Given the description of an element on the screen output the (x, y) to click on. 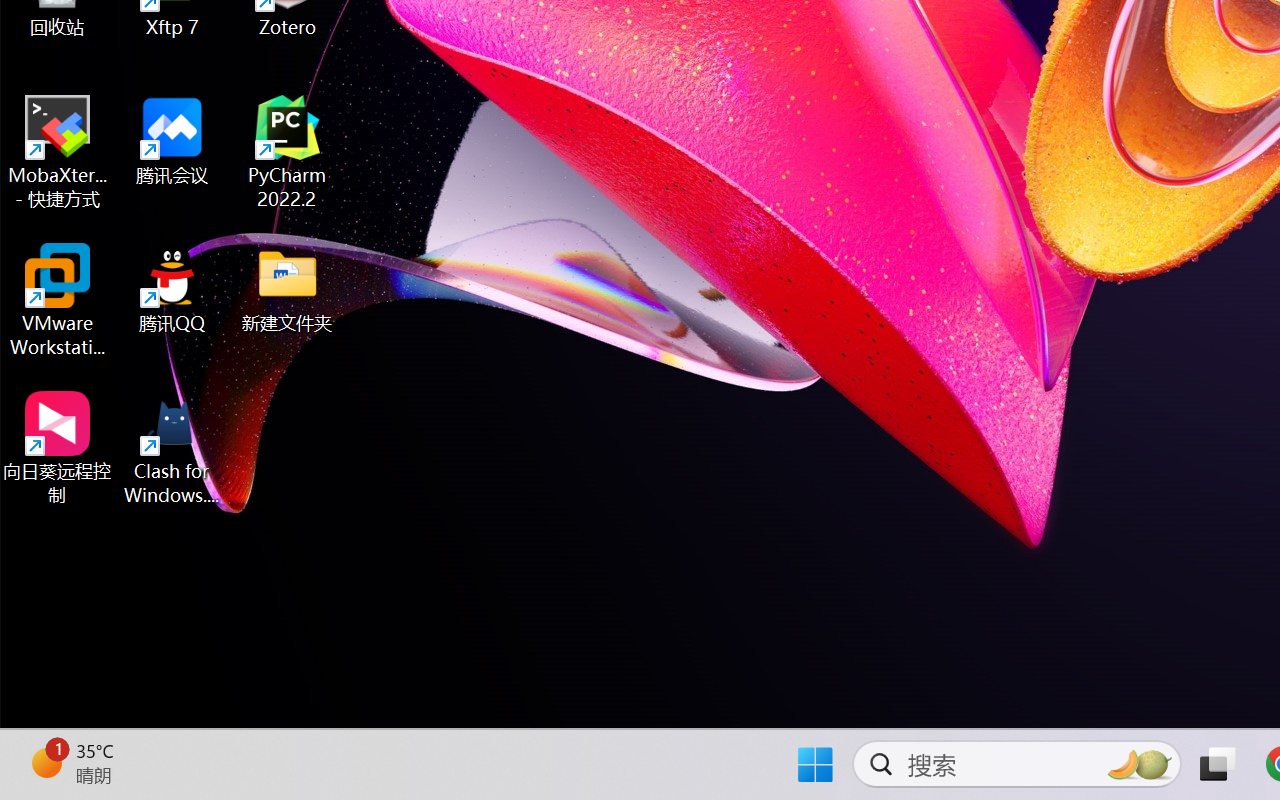
VMware Workstation Pro (57, 300)
PyCharm 2022.2 (287, 152)
